Given the description of an element on the screen output the (x, y) to click on. 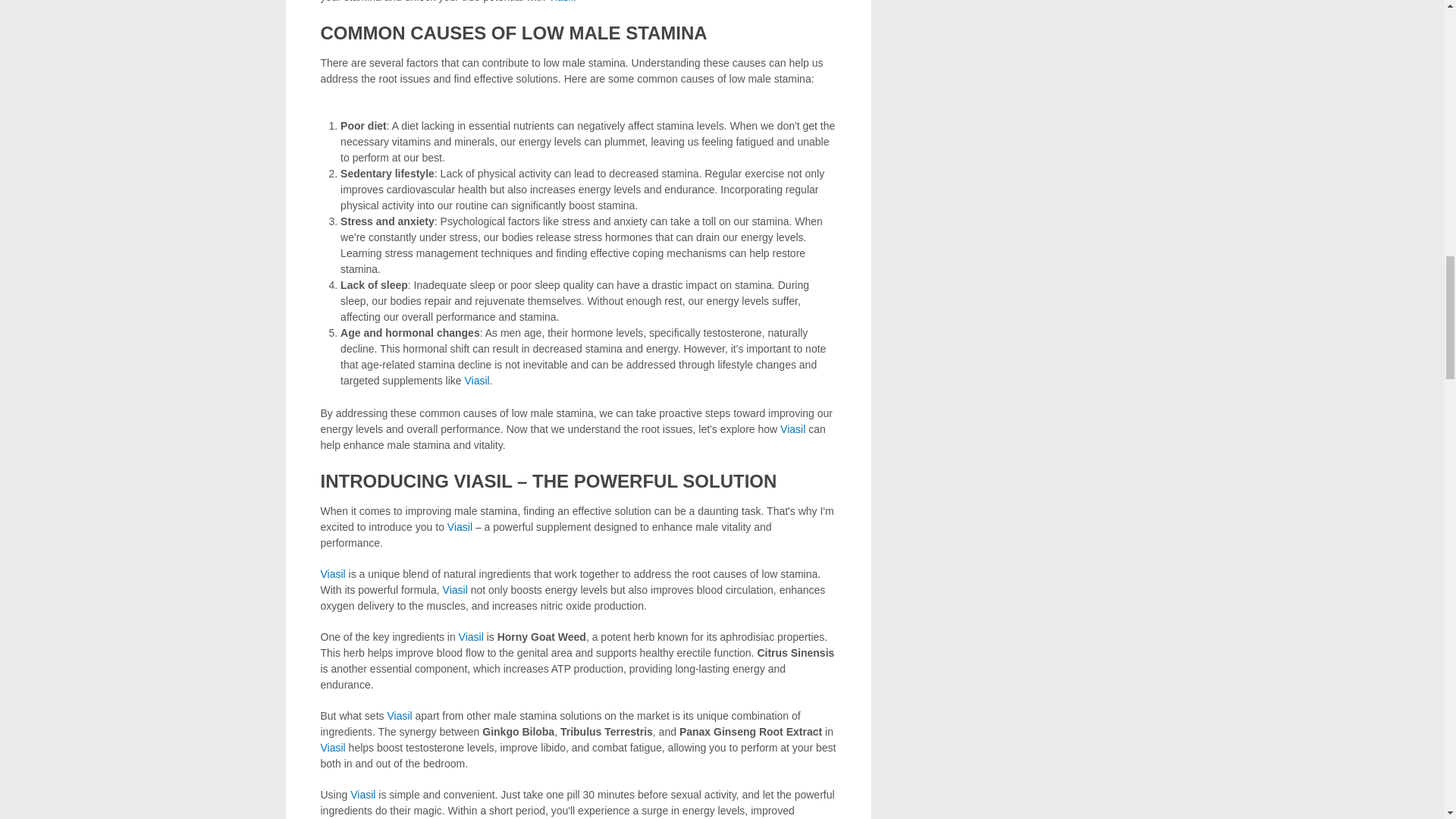
Viasil (560, 1)
Viasil (792, 428)
Viasil (332, 573)
Viasil (470, 636)
Viasil (458, 526)
Viasil (476, 380)
Viasil (454, 589)
